Given the description of an element on the screen output the (x, y) to click on. 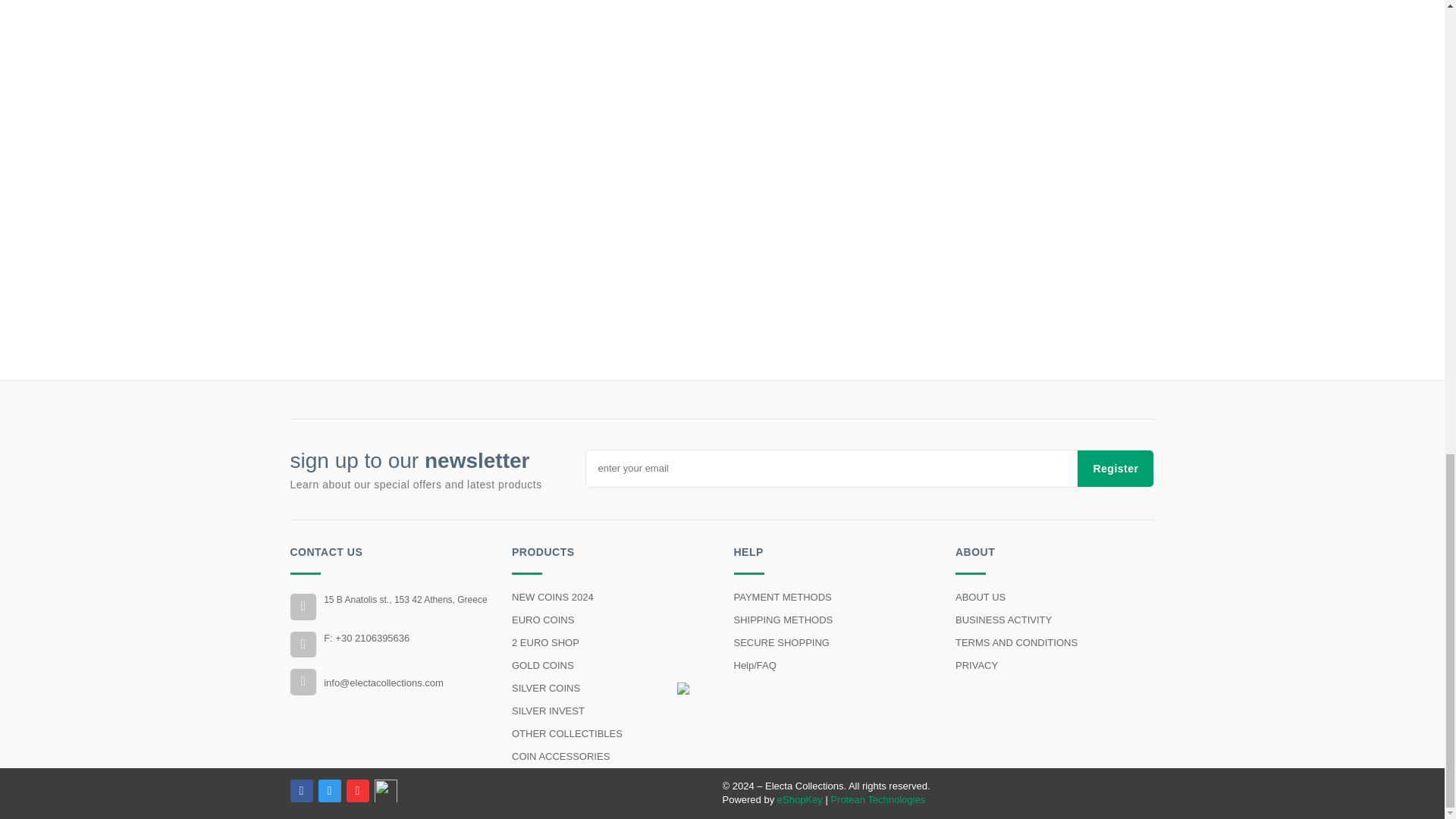
TERMS AND CONDITIONS (1054, 642)
SECURE SHOPPING (833, 642)
SHIPPING METHODS (833, 620)
COIN ACCESSORIES (611, 756)
ABOUT US (1054, 597)
OTHER COLLECTIBLES (611, 733)
SILVER COINS (611, 688)
PAYMENT METHODS (833, 597)
GOLD COINS (611, 665)
BUSINESS ACTIVITY (1054, 620)
